Given the description of an element on the screen output the (x, y) to click on. 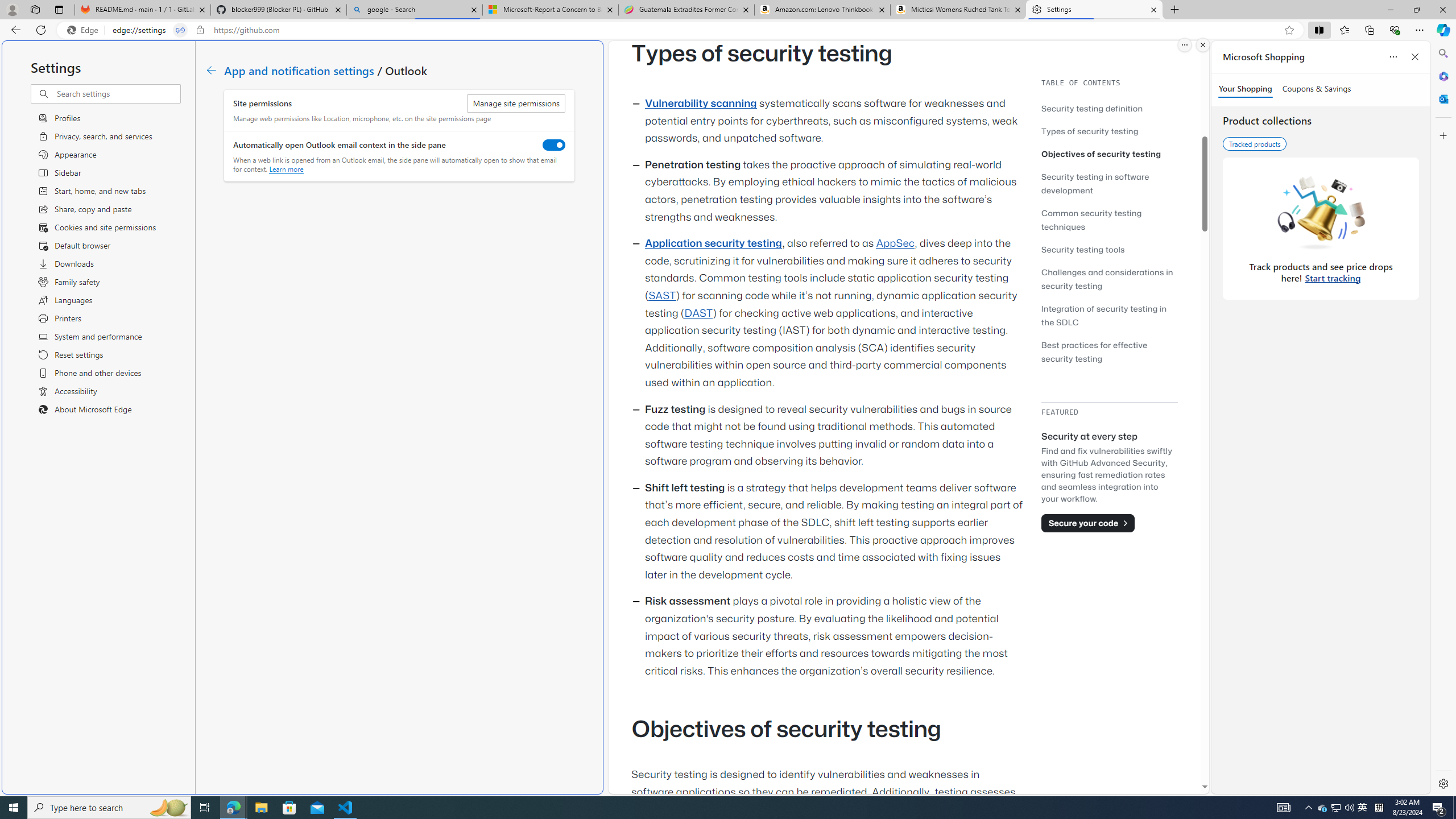
Tabs in split screen (180, 29)
Common security testing techniques (1109, 219)
Integration of security testing in the SDLC (1109, 315)
Secure your code (1088, 522)
Security testing definition (1109, 108)
Types of security testing (1089, 130)
Integration of security testing in the SDLC (1104, 314)
google - Search (414, 9)
Types of security testing (1109, 130)
